Given the description of an element on the screen output the (x, y) to click on. 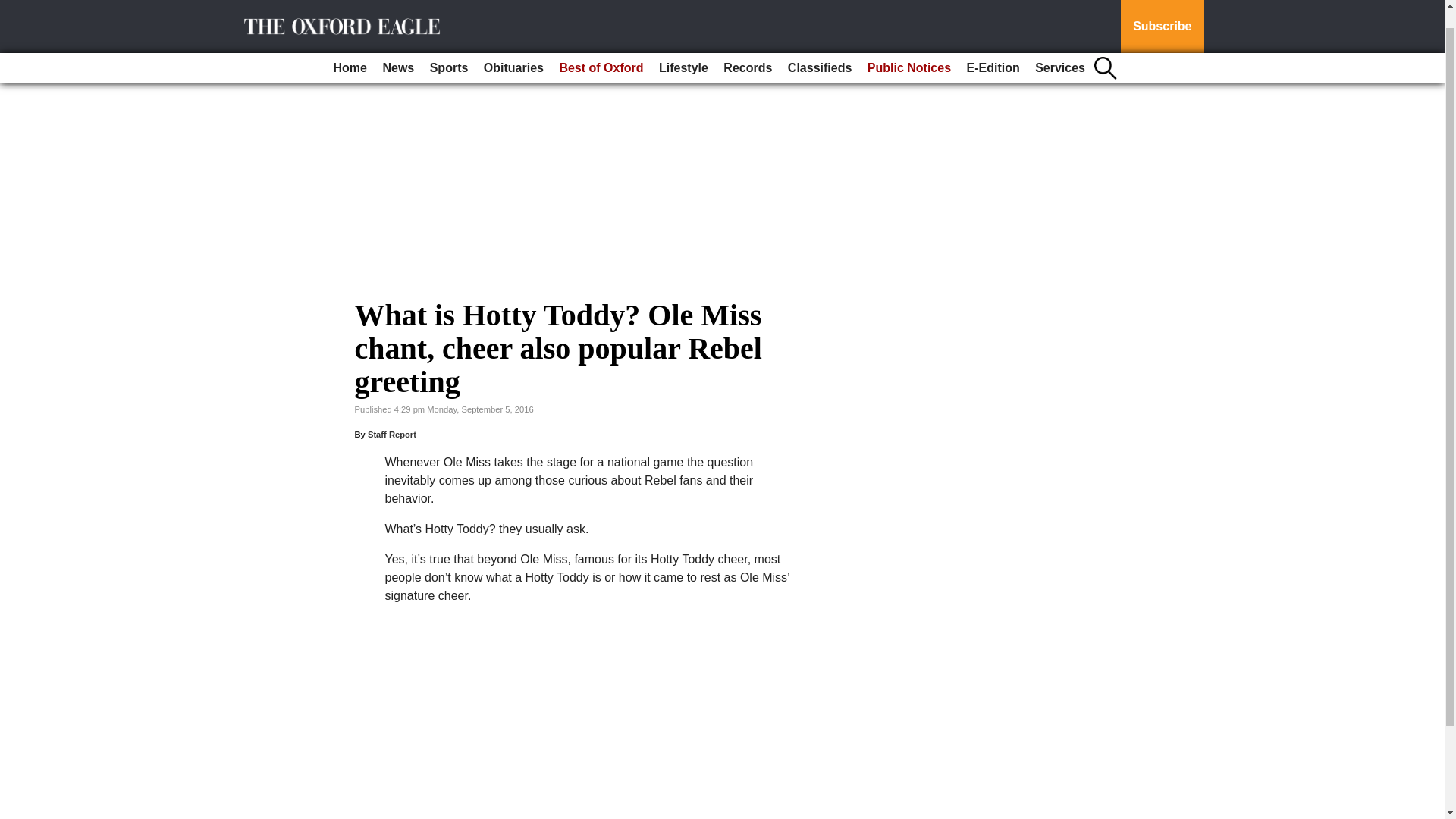
Home (349, 47)
Best of Oxford (601, 47)
Lifestyle (683, 47)
Public Notices (908, 47)
Sports (448, 47)
Subscribe (1162, 16)
Records (747, 47)
Obituaries (513, 47)
Classifieds (819, 47)
Services (1059, 47)
